Given the description of an element on the screen output the (x, y) to click on. 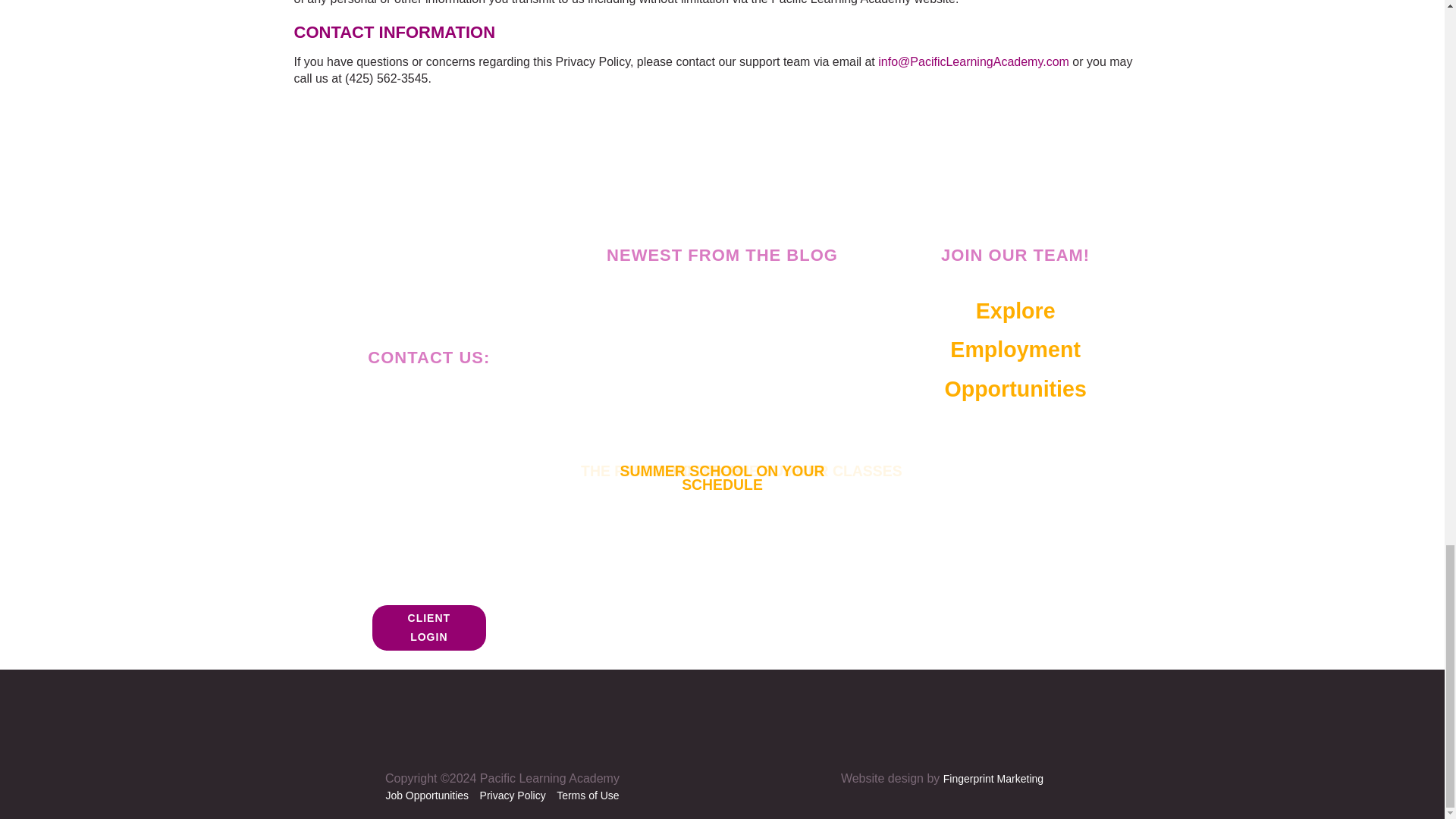
SUMMER SCHOOL ON YOUR SCHEDULE (726, 474)
Email Us (428, 437)
ONE-TO-ONE SUMMER CLASSES (788, 467)
Download Our Brochure (429, 524)
425-562-3545 (449, 403)
CLIENT LOGIN (429, 627)
THE PANDEMIC DITCH (1014, 349)
